Given the description of an element on the screen output the (x, y) to click on. 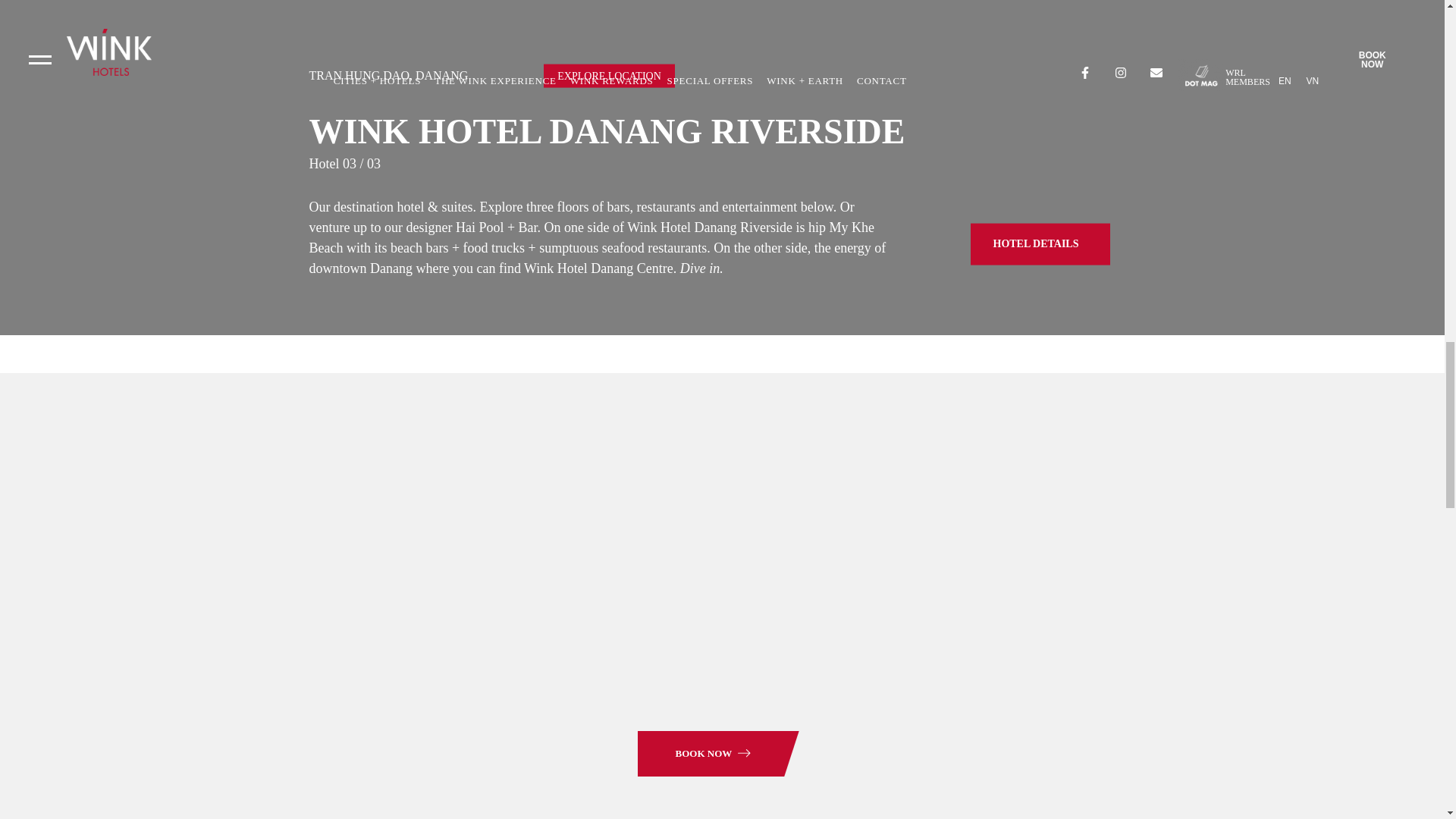
EXPLORE LOCATION (609, 74)
HOTEL DETAILS (1040, 243)
BOOK NOW (705, 753)
